Given the description of an element on the screen output the (x, y) to click on. 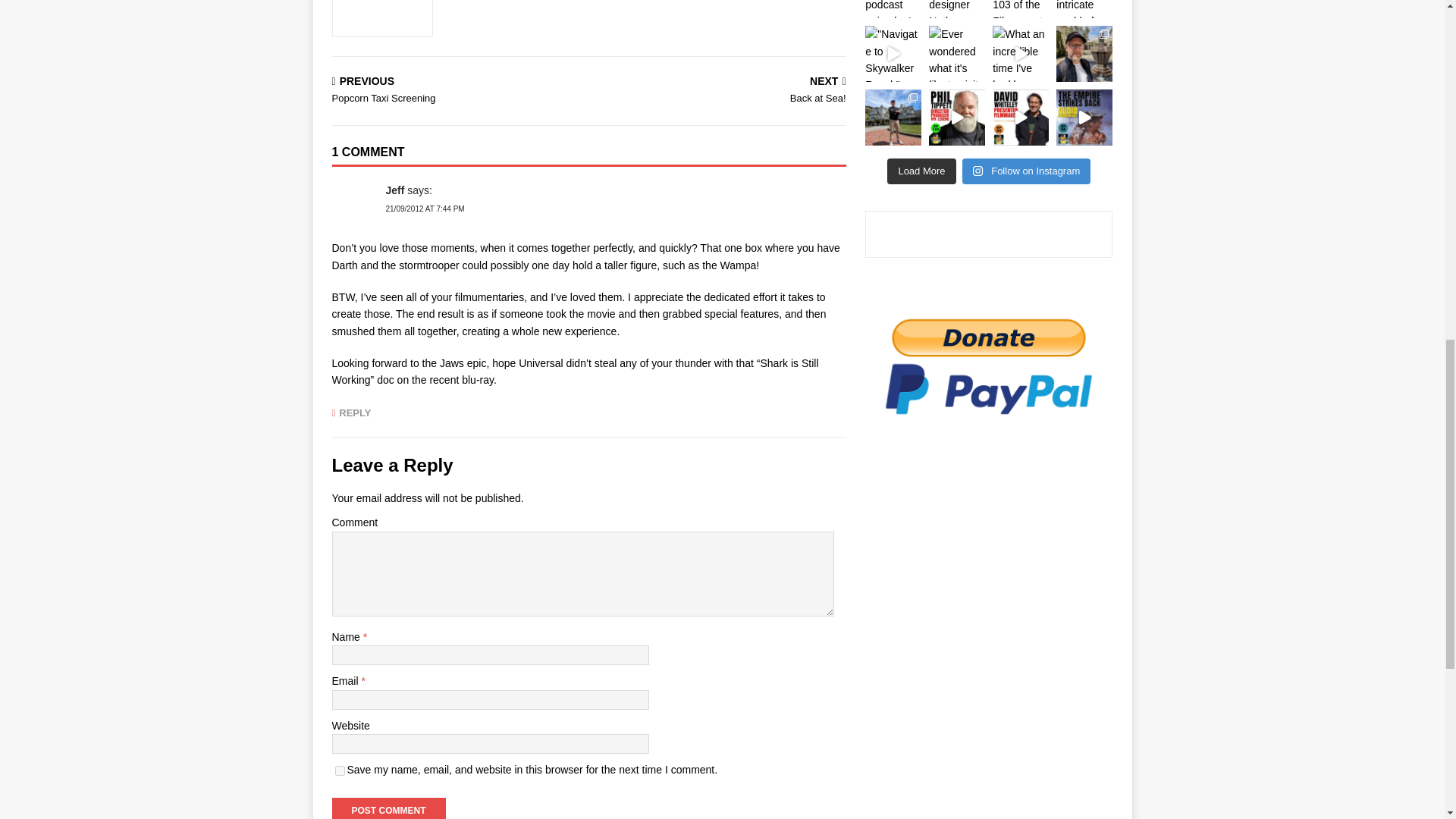
yes (339, 770)
Post Comment (388, 808)
